Given the description of an element on the screen output the (x, y) to click on. 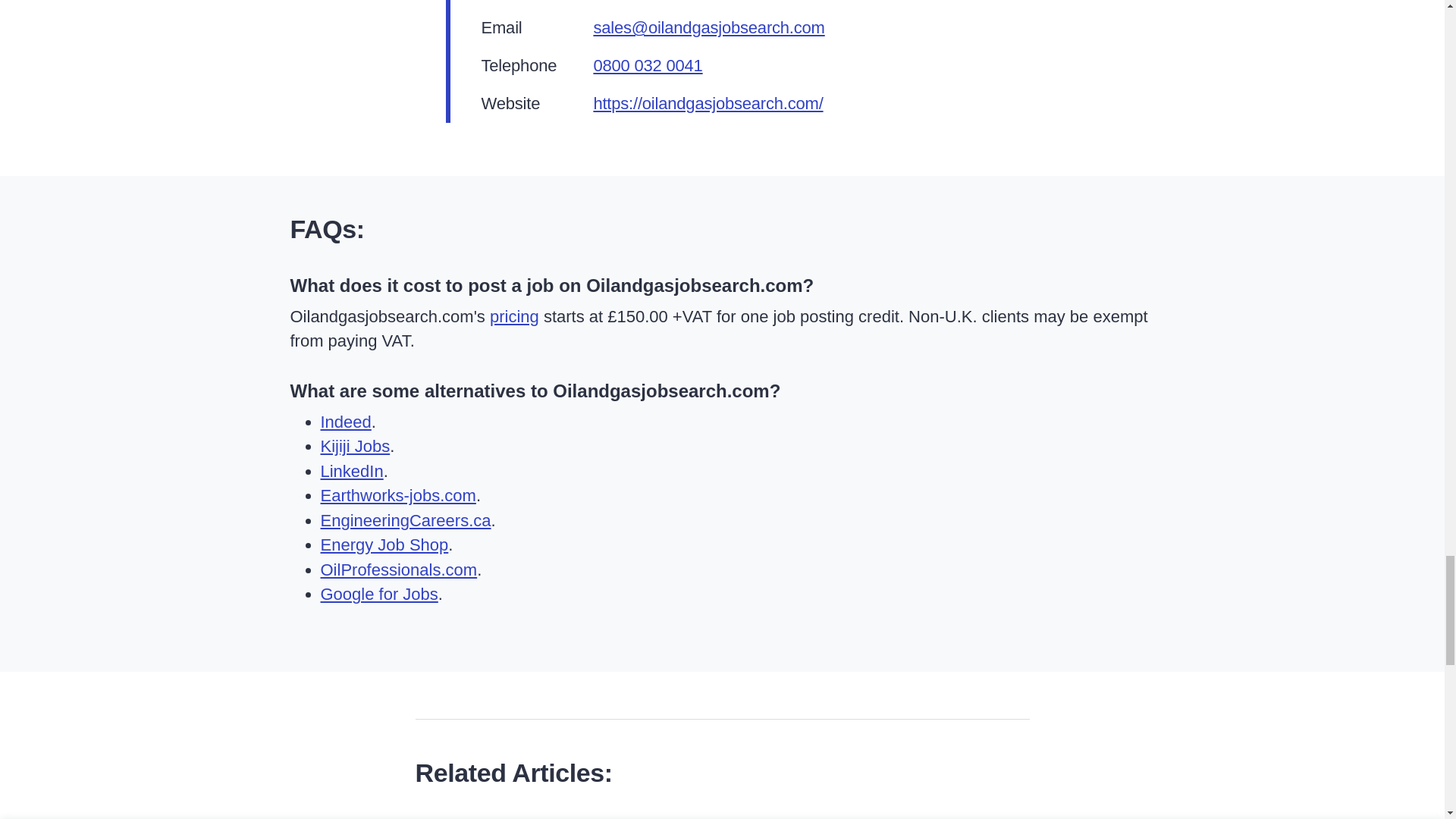
LinkedIn (351, 470)
Kijiji Jobs (355, 445)
Indeed (345, 421)
0800 032 0041 (646, 65)
EngineeringCareers.ca (405, 520)
pricing (513, 316)
Earthworks-jobs.com (398, 495)
Google for Jobs (379, 593)
Energy Job Shop (384, 544)
OilProfessionals.com (398, 569)
